Given the description of an element on the screen output the (x, y) to click on. 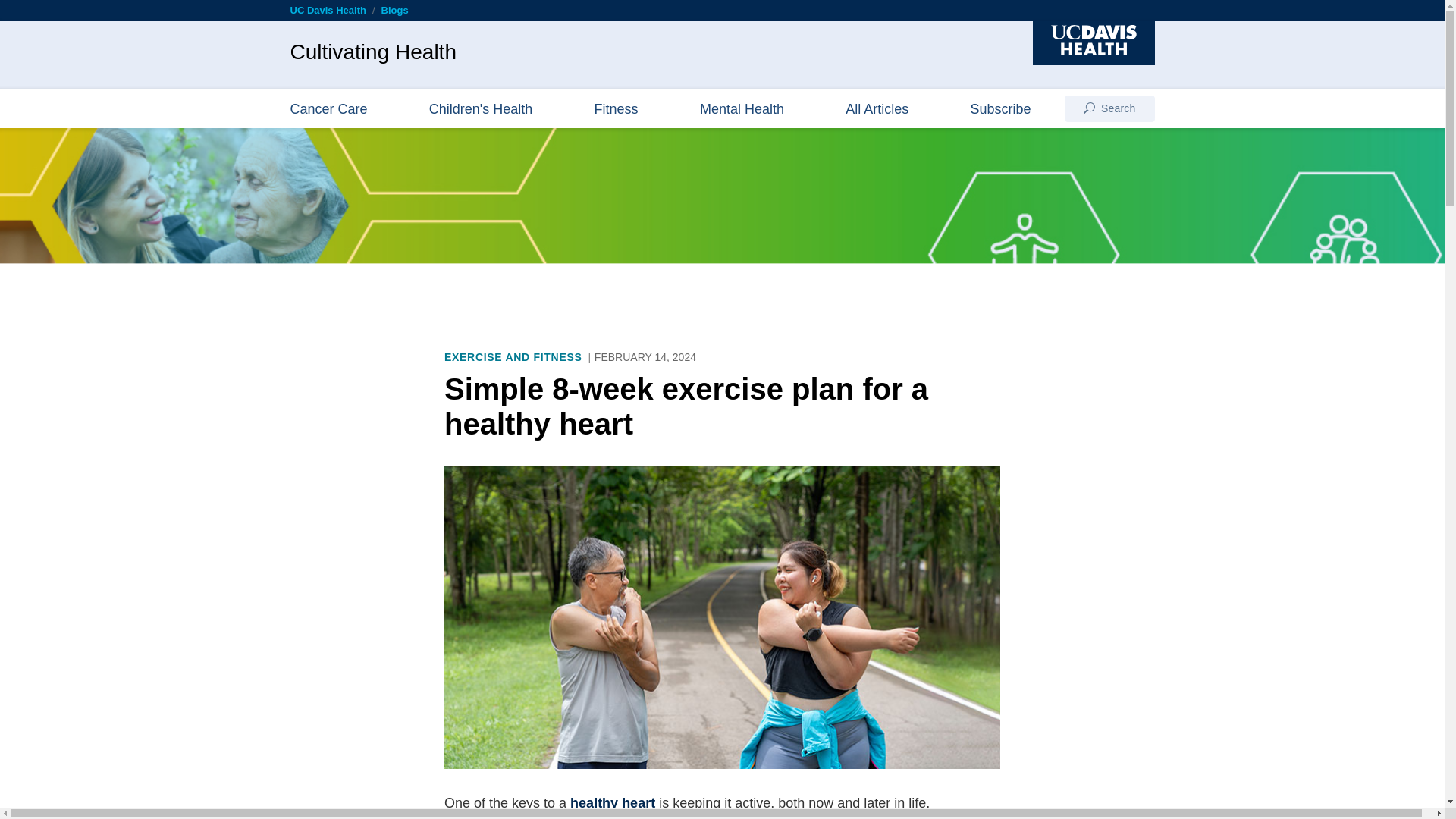
Cancer Care (327, 108)
Mental Health (741, 108)
Blogs (395, 9)
All Articles (876, 108)
Fitness (616, 108)
Subscribe (1000, 108)
UC Davis Health (327, 9)
Cultivating Health (372, 51)
Children's Health (480, 108)
search icon (1088, 107)
